Given the description of an element on the screen output the (x, y) to click on. 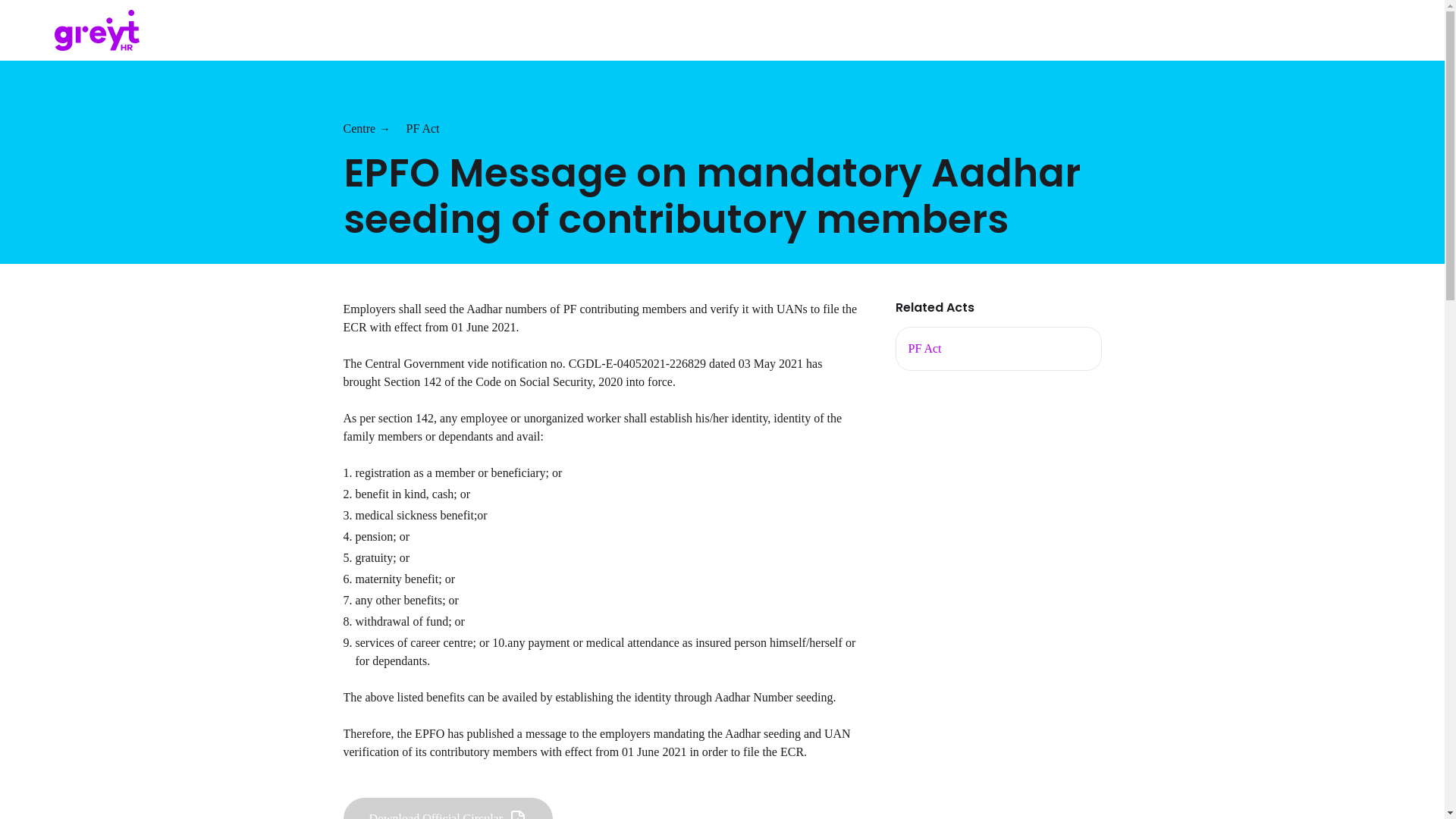
PF Act (925, 348)
Download Official Circular (447, 815)
Centre (358, 128)
Download Official Circular (447, 808)
PF Act (422, 128)
